Given the description of an element on the screen output the (x, y) to click on. 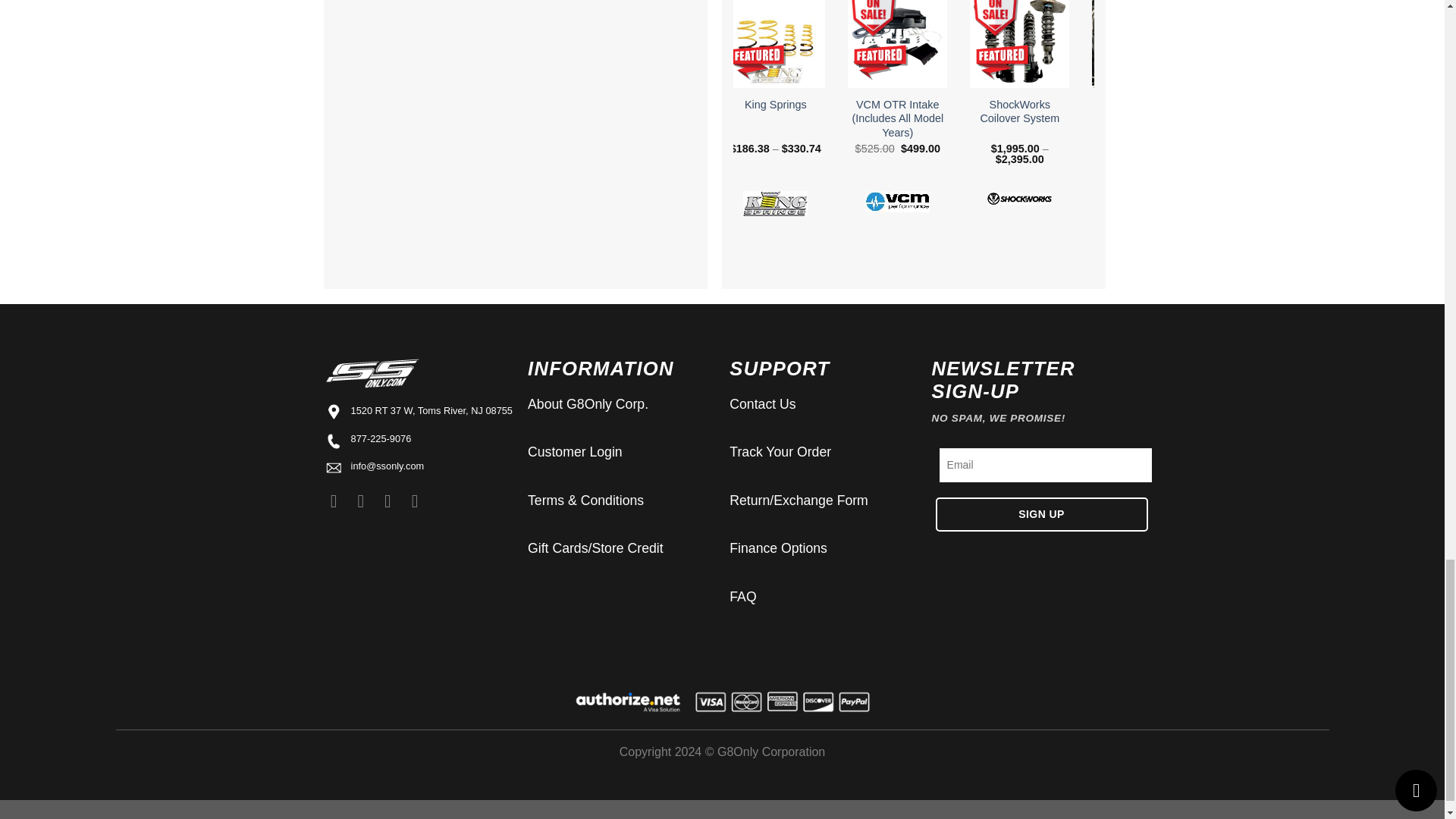
KING Springs (775, 203)
SIGN UP (1042, 514)
